Given the description of an element on the screen output the (x, y) to click on. 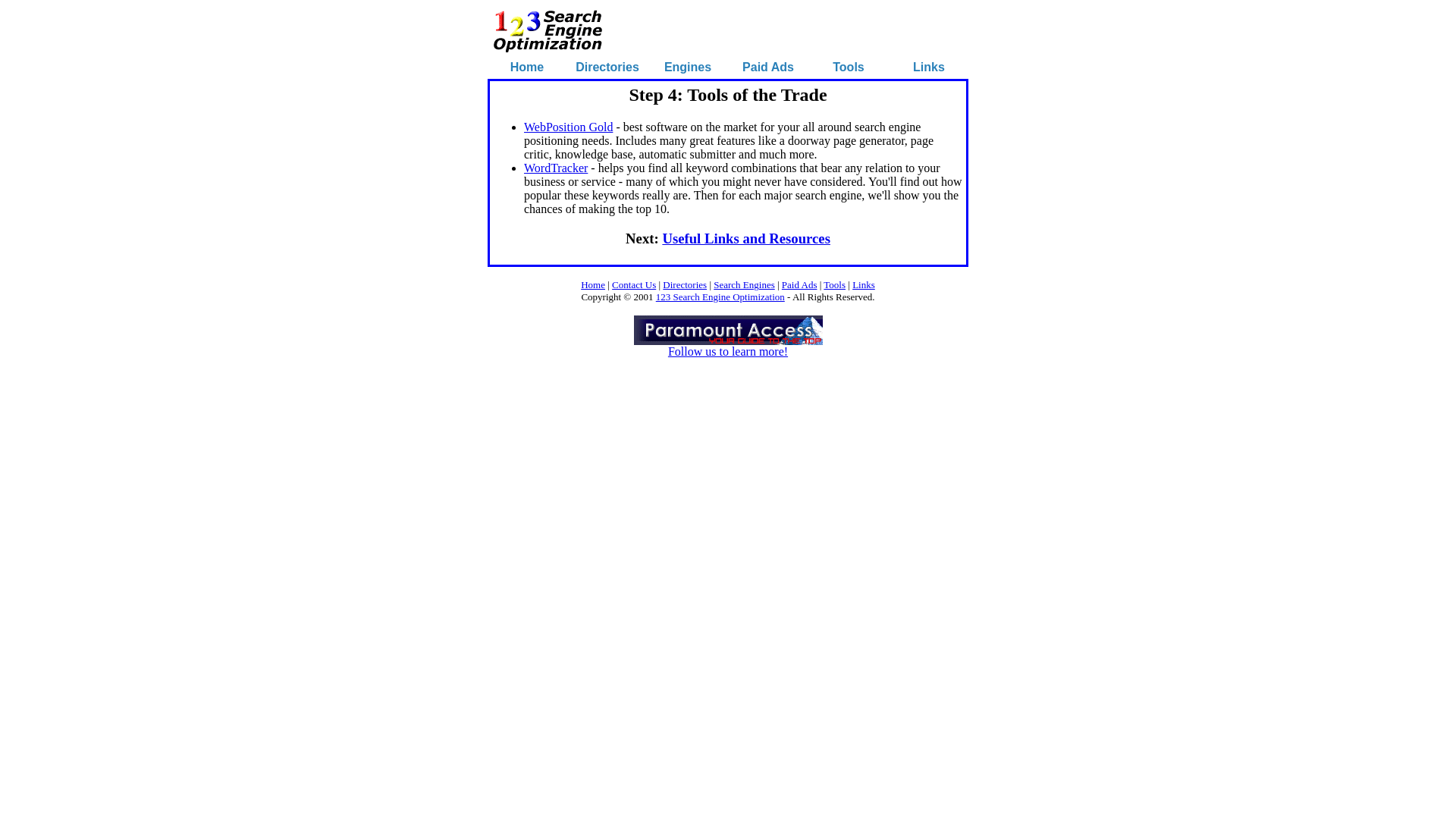
Tools Element type: text (847, 66)
123 Search Engine Optimization Element type: text (719, 296)
WebPosition Gold Element type: text (568, 126)
Directories Element type: text (684, 284)
Useful Links and Resources Element type: text (746, 238)
Tools Element type: text (834, 284)
Contact Us Element type: text (633, 284)
Paid Ads Element type: text (767, 66)
Engines Element type: text (687, 66)
Links Element type: text (863, 284)
Links Element type: text (928, 66)
WordTracker Element type: text (555, 167)
Directories Element type: text (607, 66)
Home Element type: text (526, 66)
Paid Ads Element type: text (799, 284)
Follow us to learn more! Element type: text (727, 345)
Search Engines Element type: text (744, 284)
Home Element type: text (592, 284)
